Given the description of an element on the screen output the (x, y) to click on. 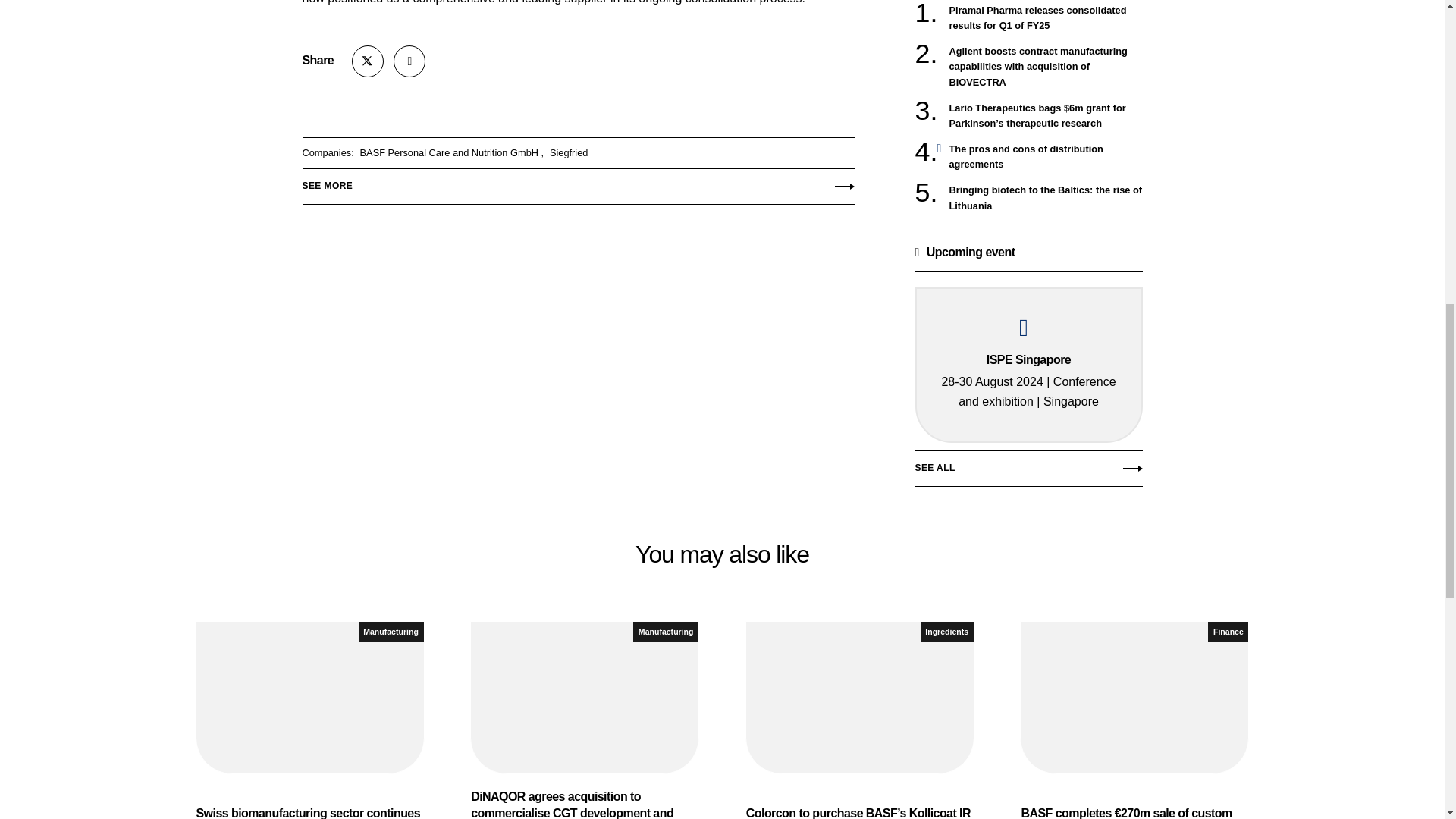
SEE ALL (1027, 472)
X (368, 60)
Manufacturing (390, 631)
Bringing biotech to the Baltics: the rise of Lithuania (1045, 197)
LinkedIn (409, 60)
Follow Manufacturing Chemist on X (368, 60)
Piramal Pharma releases consolidated results for Q1 of FY25 (1045, 18)
Swiss biomanufacturing sector continues to thrive in 2023 (309, 720)
Follow Manufacturing Chemist on LinkedIn (409, 60)
The pros and cons of distribution agreements (1045, 156)
SEE MORE (577, 182)
